Given the description of an element on the screen output the (x, y) to click on. 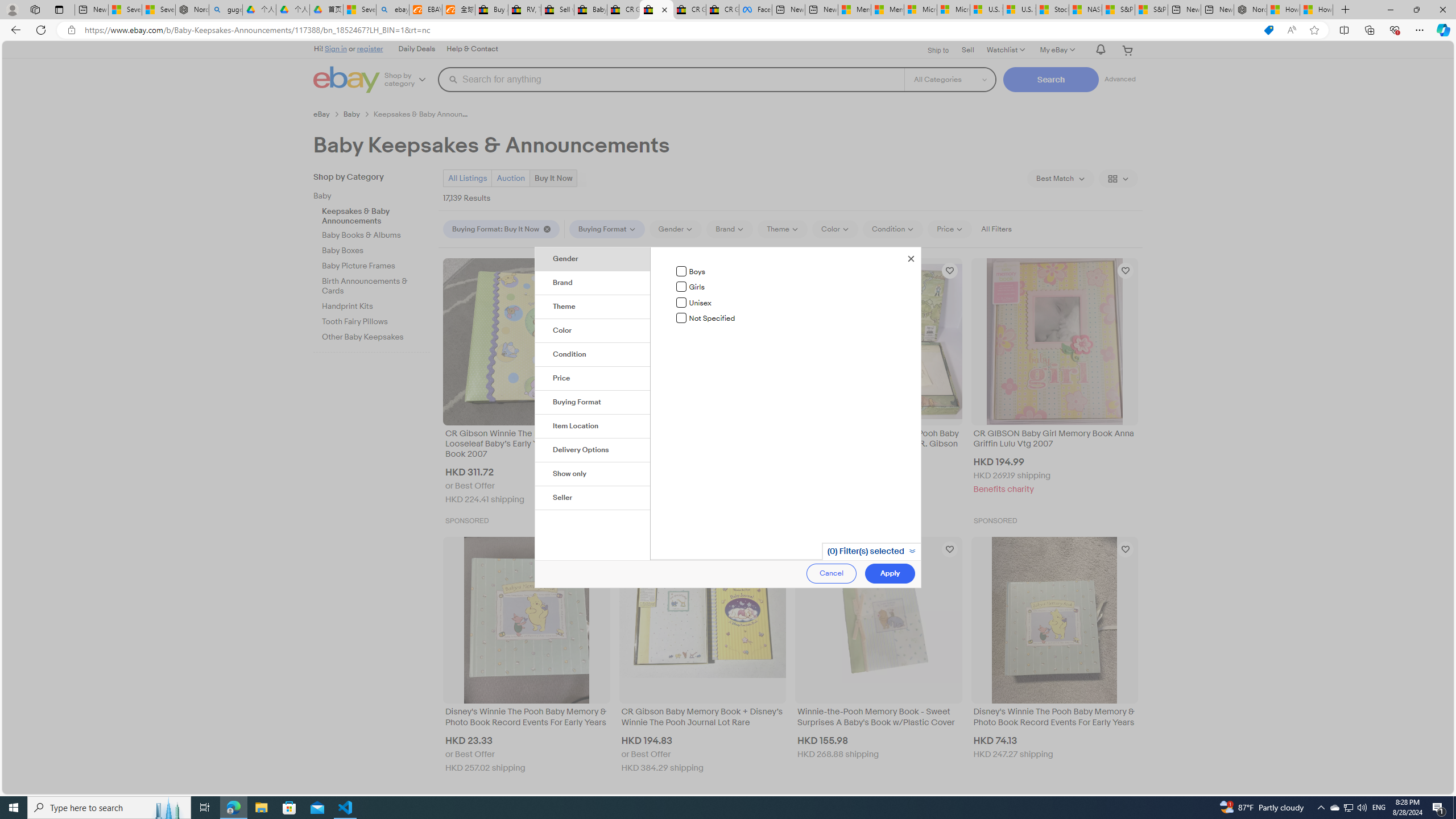
S&P 500, Nasdaq end lower, weighed by Nvidia dip | Watch (1150, 9)
Not Specified (681, 317)
Apply (889, 573)
Copilot (Ctrl+Shift+.) (1442, 29)
Color (592, 331)
Back (13, 29)
New Tab (1346, 9)
Personal Profile (12, 9)
Browser essentials (1394, 29)
Condition (592, 354)
Minimize (1390, 9)
(0) Filter(s) selected (870, 551)
